Given the description of an element on the screen output the (x, y) to click on. 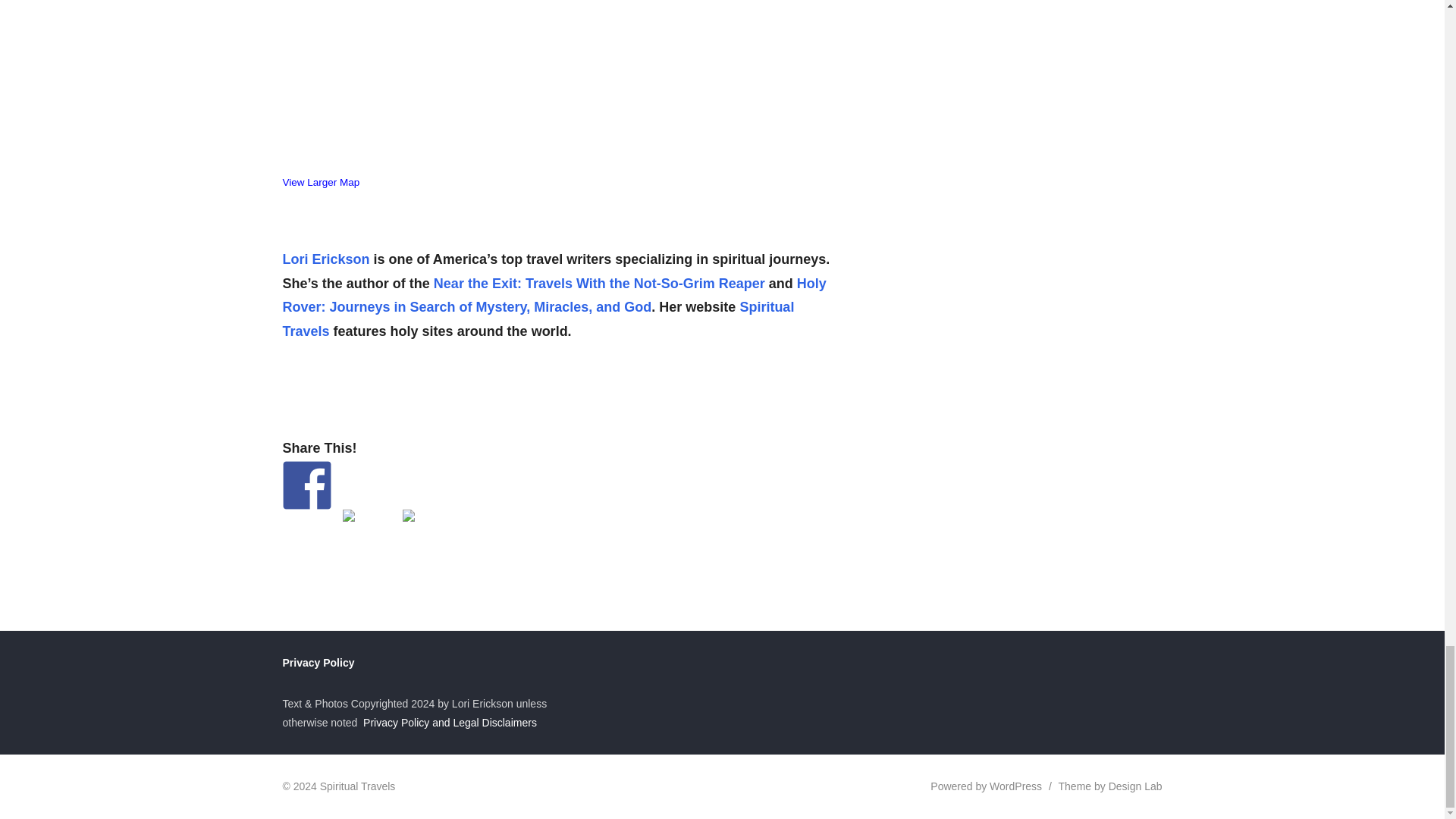
Share on Twitter (366, 532)
Share on Twitter (348, 514)
Near the Exit: Travels With the Not-So-Grim Reaper (599, 282)
View Larger Map (320, 182)
Lori Erickson (325, 258)
Spiritual Travels (537, 319)
Pin it with Pinterest (425, 532)
Share on Facebook (306, 484)
Holy Rover: Journeys in Search of Mystery, Miracles, and God (553, 294)
Pin it with Pinterest (407, 514)
